Given the description of an element on the screen output the (x, y) to click on. 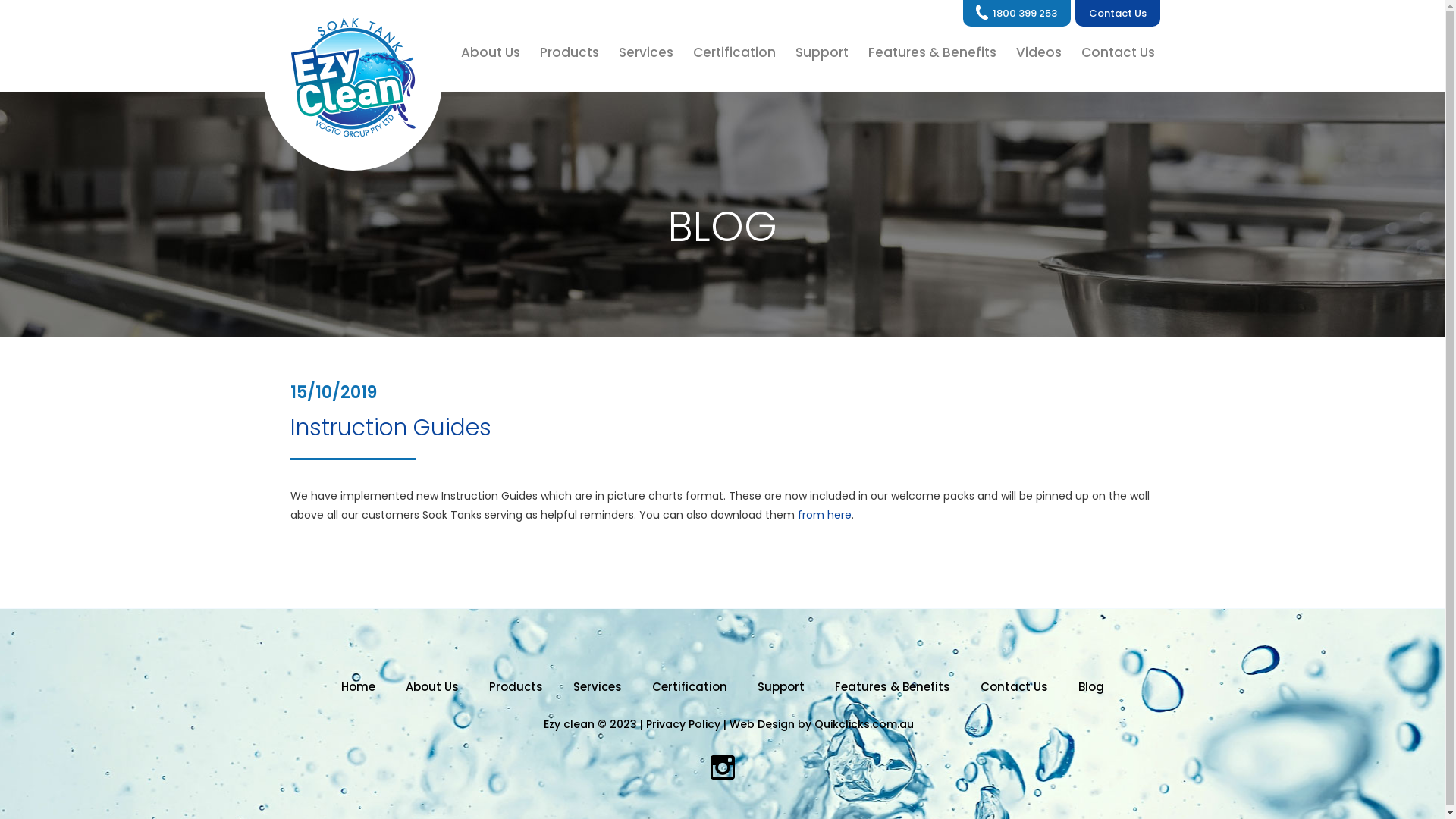
Services Element type: text (597, 686)
Home Element type: text (358, 686)
from here Element type: text (824, 514)
Blog Element type: text (1091, 686)
Privacy Policy Element type: text (683, 724)
Products Element type: text (568, 51)
Support Element type: text (779, 686)
Certification Element type: text (733, 51)
Products Element type: text (515, 686)
Videos Element type: text (1037, 51)
About Us Element type: text (431, 686)
Contact Us Element type: text (1013, 686)
Features & Benefits Element type: text (891, 686)
Features & Benefits Element type: text (932, 51)
Contact Us Element type: text (1117, 13)
Support Element type: text (821, 51)
Contact Us Element type: text (1112, 51)
1800 399 253 Element type: text (1016, 13)
About Us Element type: text (495, 51)
Services Element type: text (645, 51)
Certification Element type: text (689, 686)
